Given the description of an element on the screen output the (x, y) to click on. 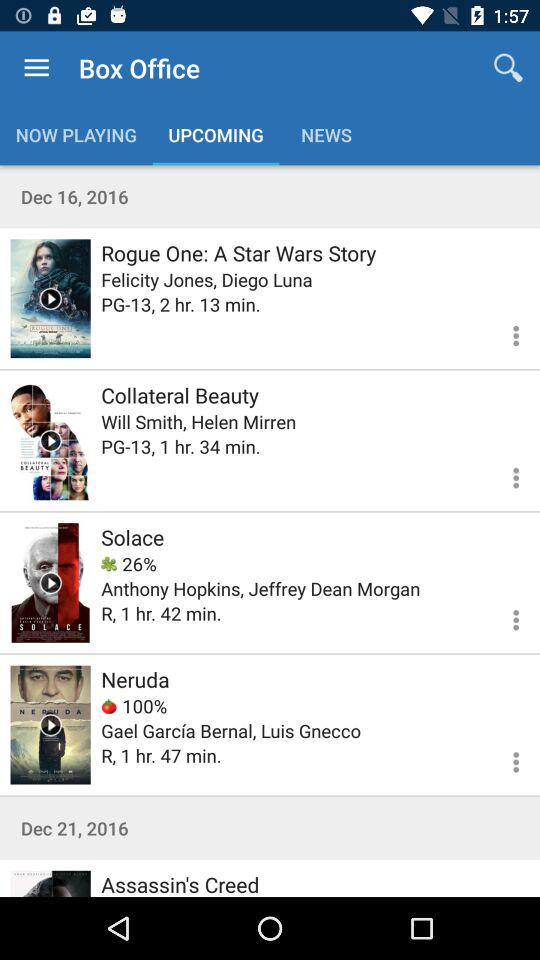
open menu (503, 759)
